Given the description of an element on the screen output the (x, y) to click on. 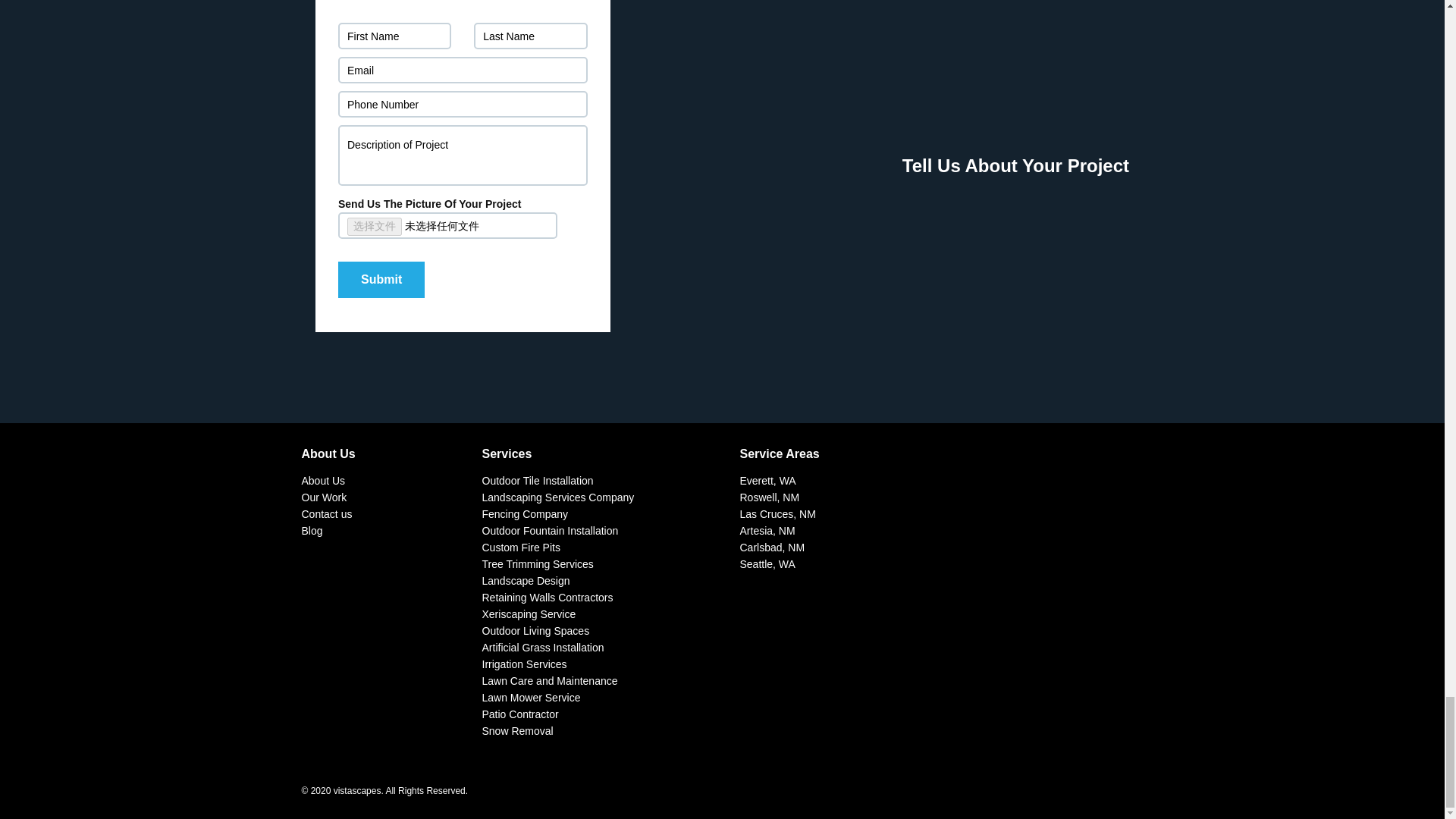
Phone Number (462, 103)
Submit (381, 279)
First Name (394, 35)
Email (462, 69)
Last Name (530, 35)
